Given the description of an element on the screen output the (x, y) to click on. 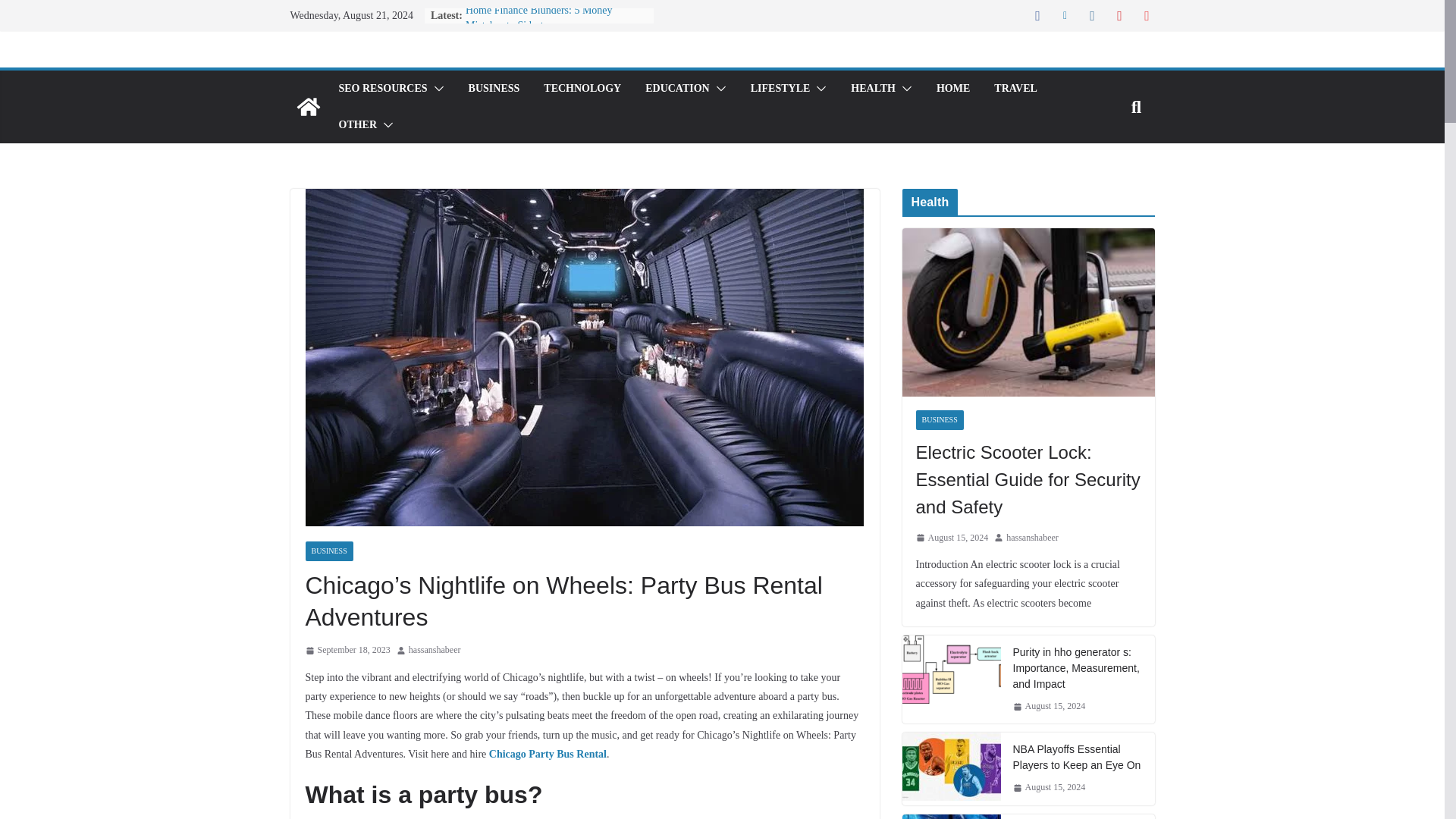
hassanshabeer (435, 650)
TRAVEL (1015, 88)
BUSINESS (493, 88)
HOME (952, 88)
September 18, 2023 (347, 650)
SEO RESOURCES (381, 88)
TECHNOLOGY (582, 88)
2:07 pm (347, 650)
MBC2030 (307, 106)
Home Finance Blunders: 5 Money Mistakes to Sidestep (538, 17)
